Given the description of an element on the screen output the (x, y) to click on. 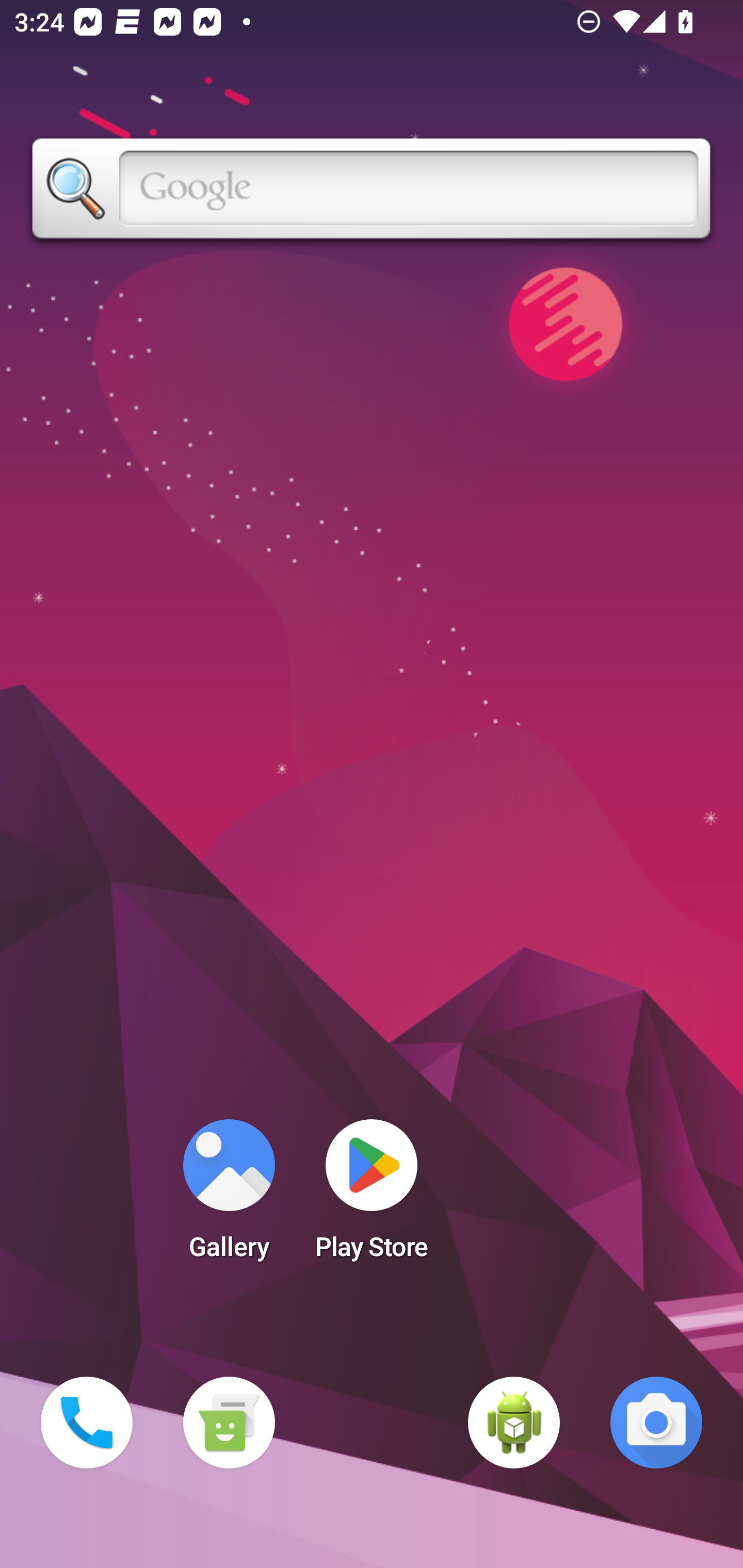
Gallery (228, 1195)
Play Store (371, 1195)
Phone (86, 1422)
Messaging (228, 1422)
WebView Browser Tester (513, 1422)
Camera (656, 1422)
